Given the description of an element on the screen output the (x, y) to click on. 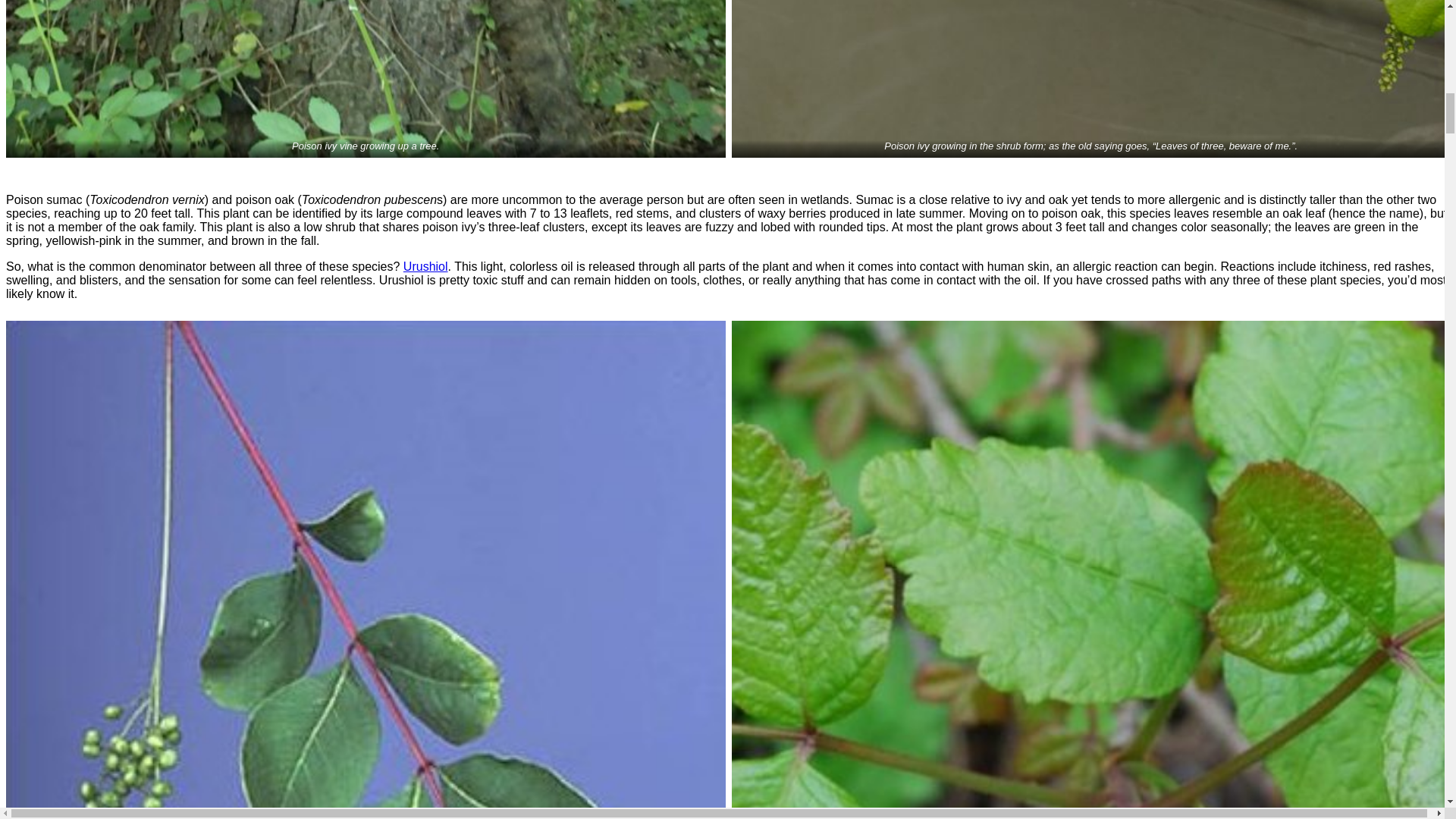
Urushiol (425, 266)
